Given the description of an element on the screen output the (x, y) to click on. 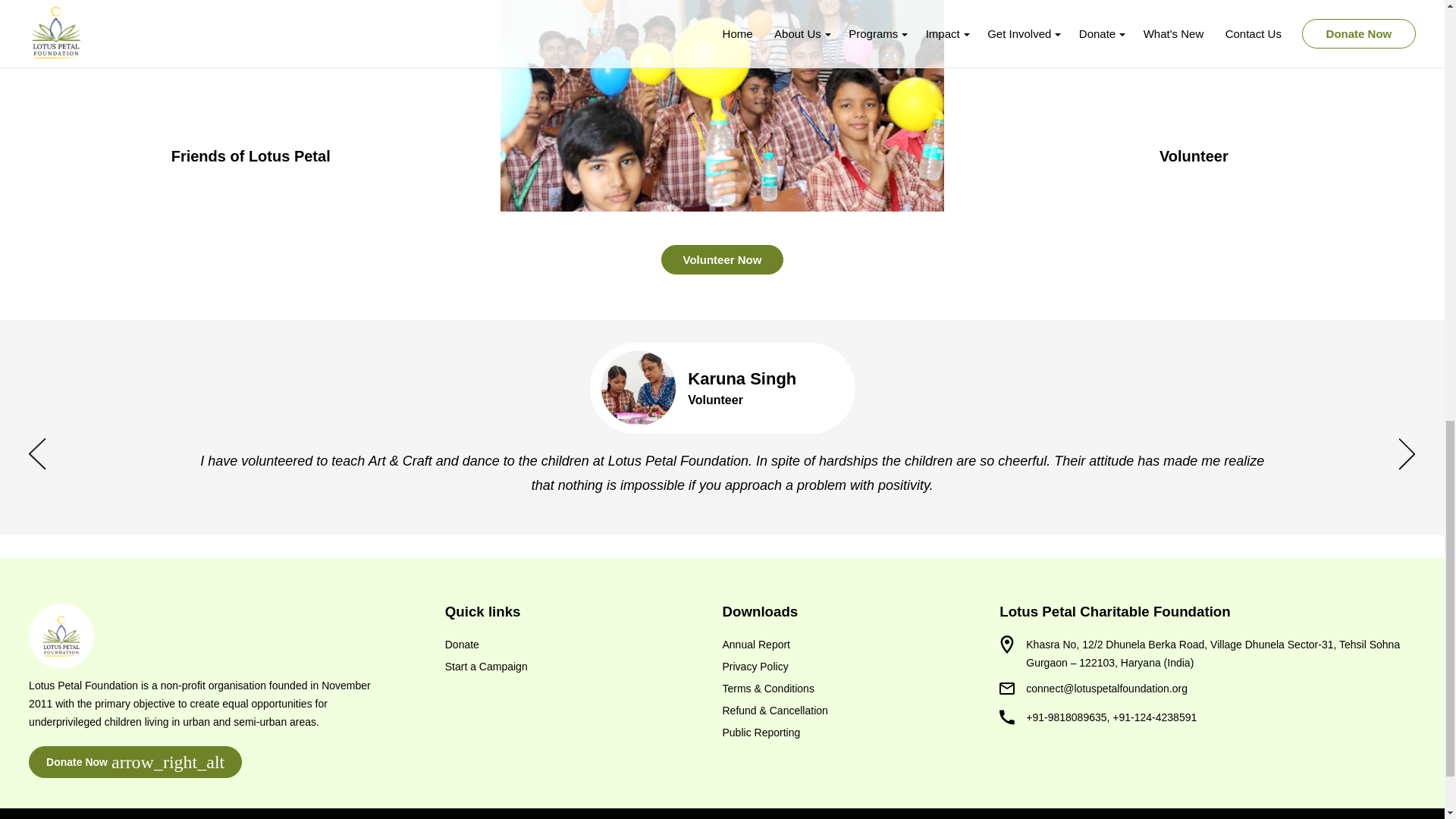
YouTube video player (250, 70)
YouTube video player (1193, 70)
